Given the description of an element on the screen output the (x, y) to click on. 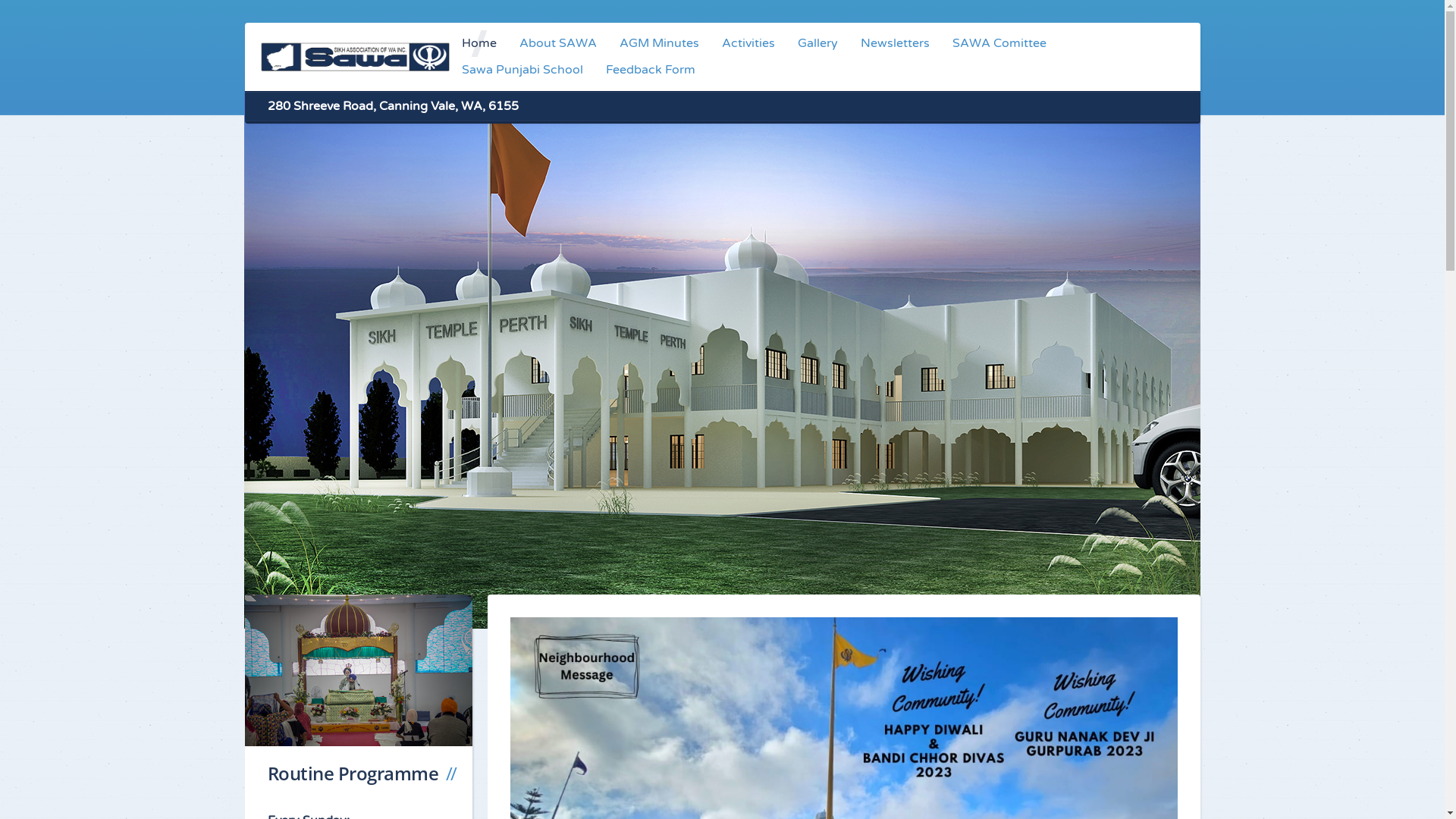
Newsletters Element type: text (895, 43)
AGM Minutes Element type: text (659, 43)
Sawa Punjabi School Element type: text (522, 69)
Home Element type: text (479, 43)
Activities Element type: text (748, 43)
Feedback Form Element type: text (650, 69)
Gallery Element type: text (817, 43)
About SAWA Element type: text (558, 43)
SAWA Comittee Element type: text (999, 43)
